Given the description of an element on the screen output the (x, y) to click on. 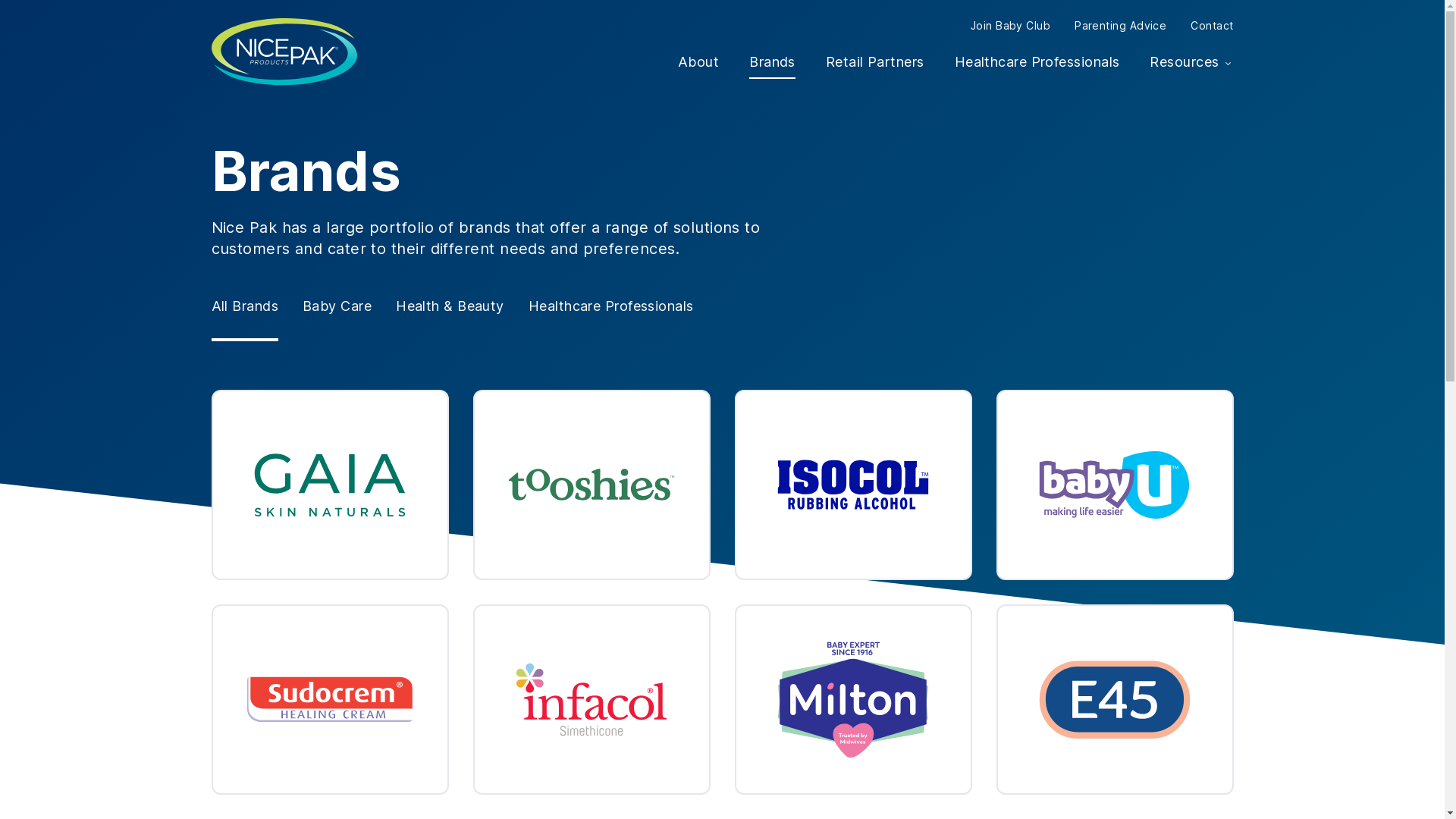
Resources Element type: text (1191, 61)
All Brands Element type: text (244, 305)
Brands Element type: text (772, 61)
Retail Partners Element type: text (874, 61)
Healthcare Professionals Element type: text (610, 305)
Contact Element type: text (1211, 25)
About Element type: text (697, 61)
Parenting Advice Element type: text (1120, 25)
Health & Beauty Element type: text (449, 305)
Healthcare Professionals Element type: text (1037, 61)
Baby Care Element type: text (336, 305)
Join Baby Club Element type: text (1010, 25)
